Given the description of an element on the screen output the (x, y) to click on. 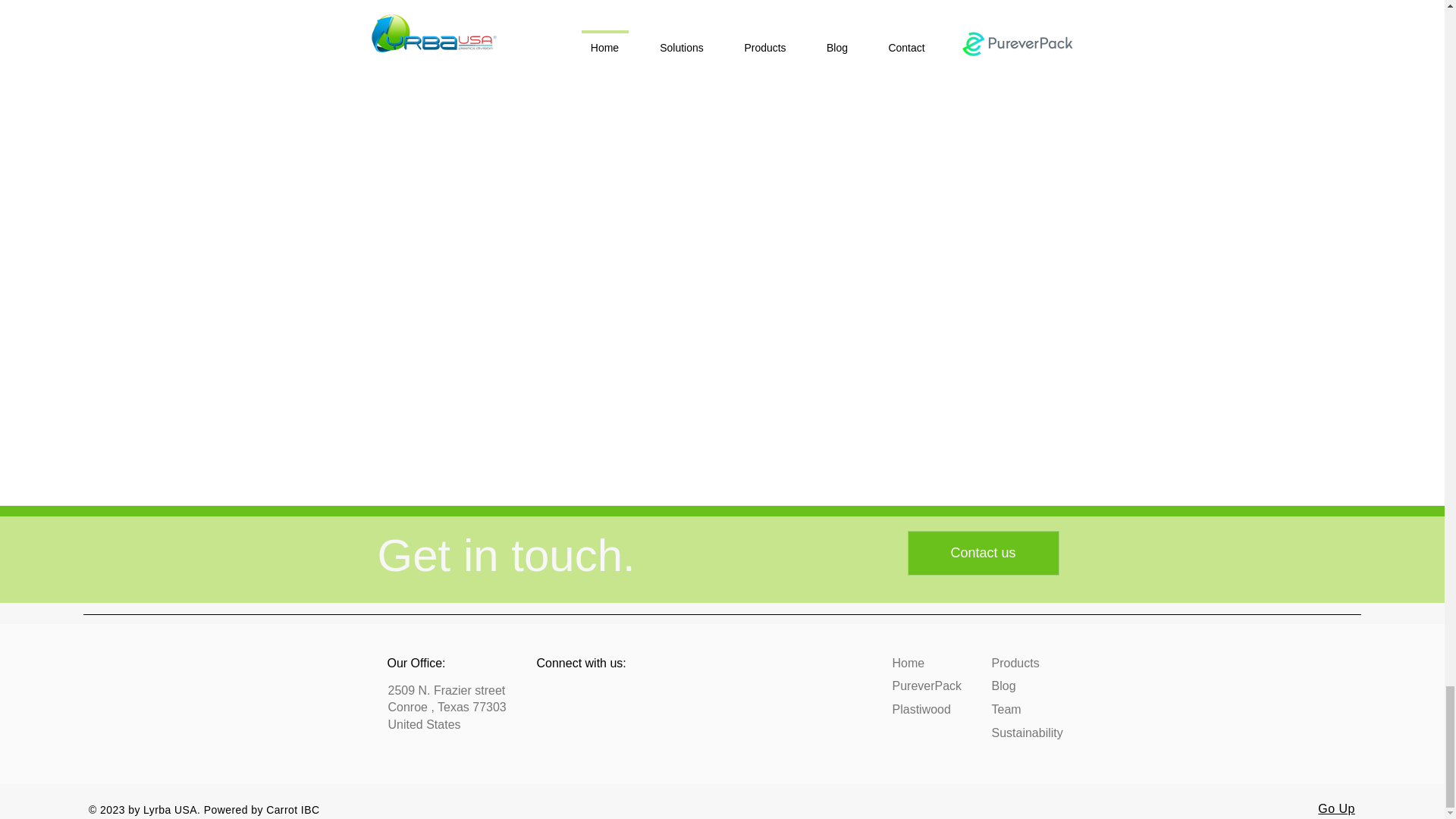
Contact us (982, 552)
Team (1006, 708)
Blog (1003, 685)
Products (1015, 662)
Plastiwood (920, 708)
Home (907, 662)
Go Up (1336, 808)
PureverPack (925, 685)
